Given the description of an element on the screen output the (x, y) to click on. 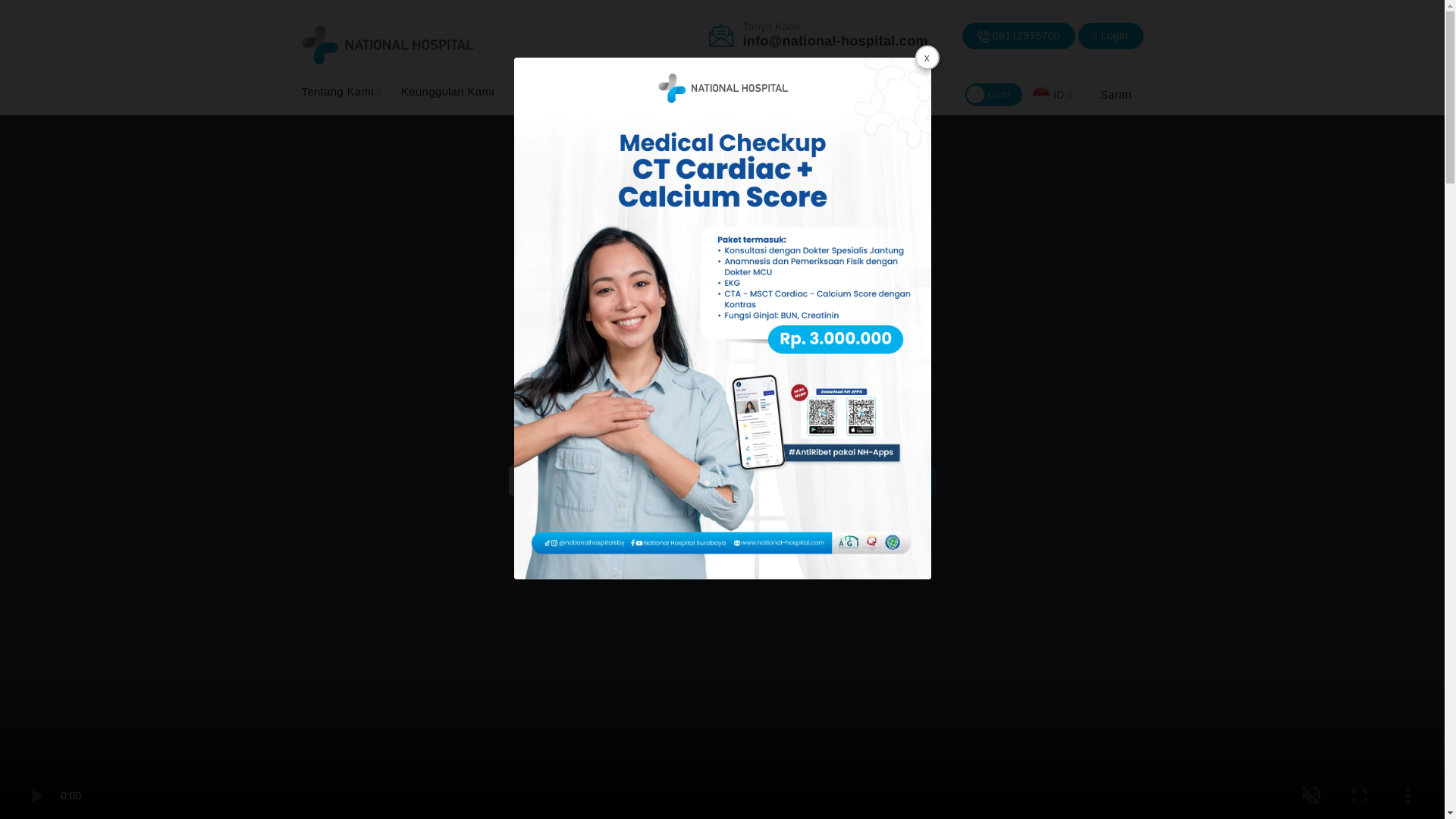
Keunggulan Kami (448, 92)
08112975700 (1020, 35)
Appoinment (1290, 744)
Cari Dokter (730, 92)
Login (1110, 35)
ID (1051, 94)
Kabar Terbaru (639, 92)
Mitra Kami (545, 92)
Indonesia (1040, 95)
08112975700 (1018, 35)
Login (1114, 35)
Tentang Kami (341, 92)
